Given the description of an element on the screen output the (x, y) to click on. 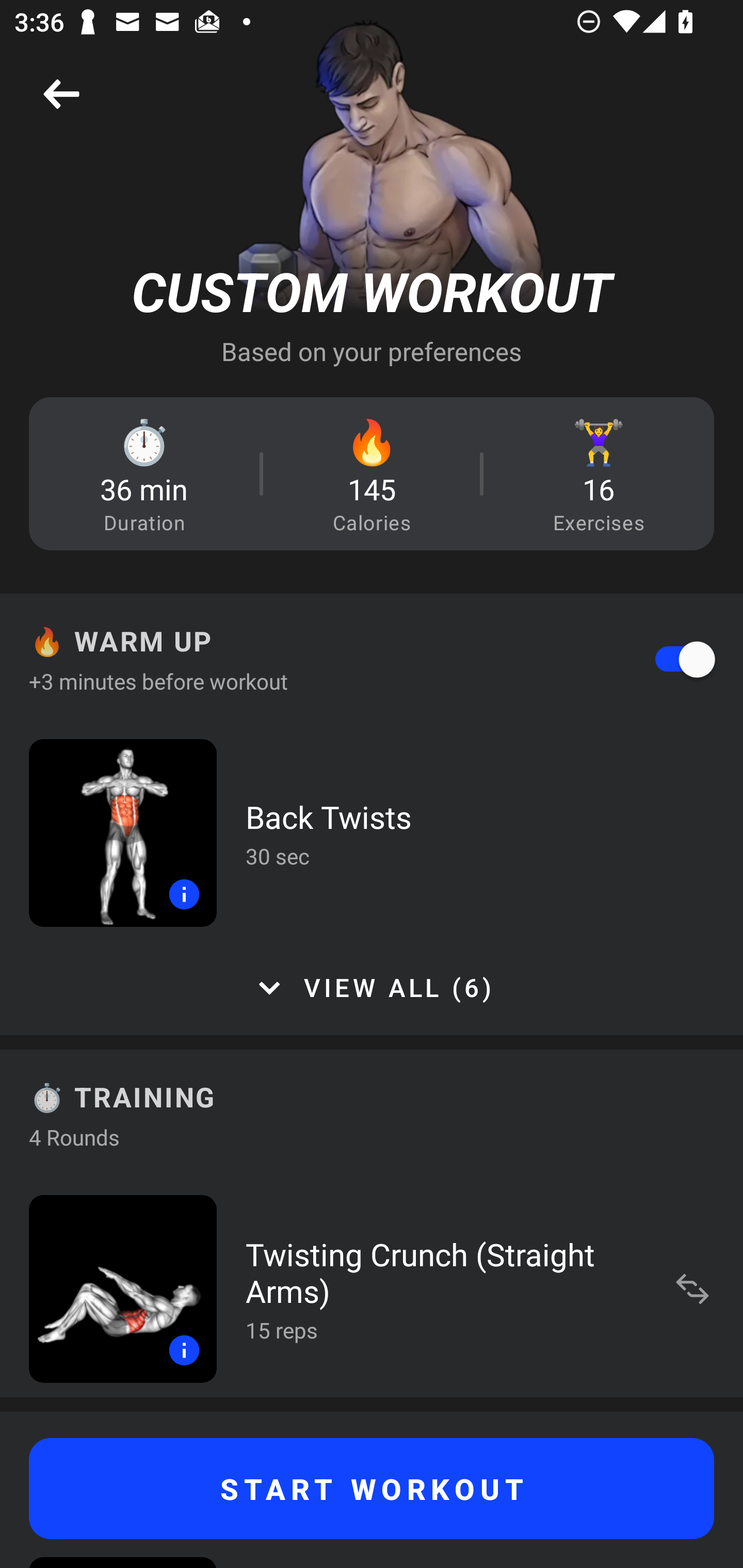
Back Twists 30 sec (371, 832)
VIEW ALL (6) (371, 987)
Twisting Crunch (Straight Arms) 15 reps (371, 1288)
START WORKOUT (371, 1488)
